Given the description of an element on the screen output the (x, y) to click on. 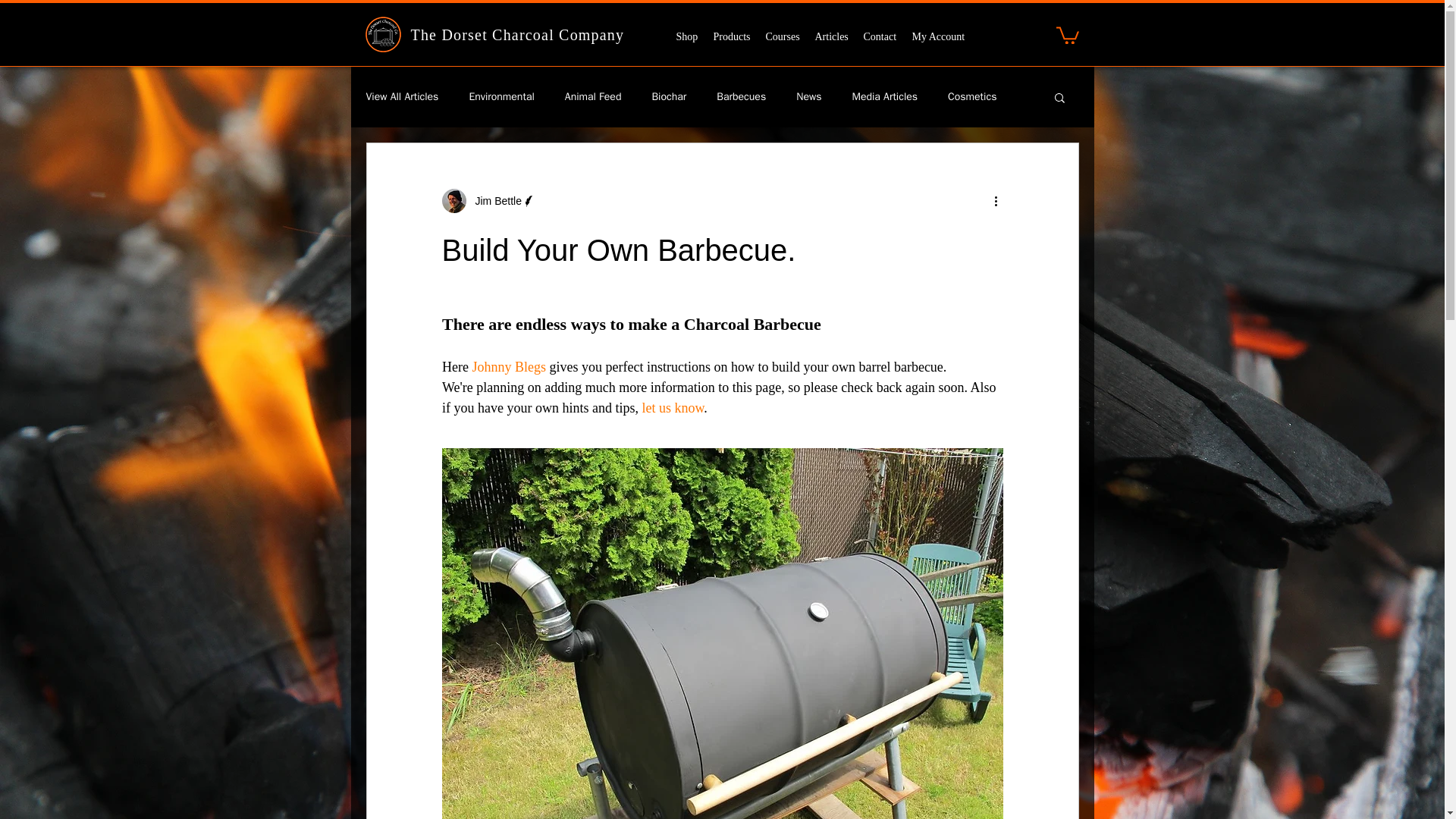
Biochar (667, 97)
Environmental (501, 97)
View All Articles (401, 97)
Jim Bettle (493, 201)
My Account (938, 36)
Courses (783, 36)
Contact (880, 36)
News (808, 97)
Shop (687, 36)
Articles (831, 36)
Barbecues (740, 97)
The Dorset Charcoal Company (517, 34)
Animal Feed (592, 97)
